Given the description of an element on the screen output the (x, y) to click on. 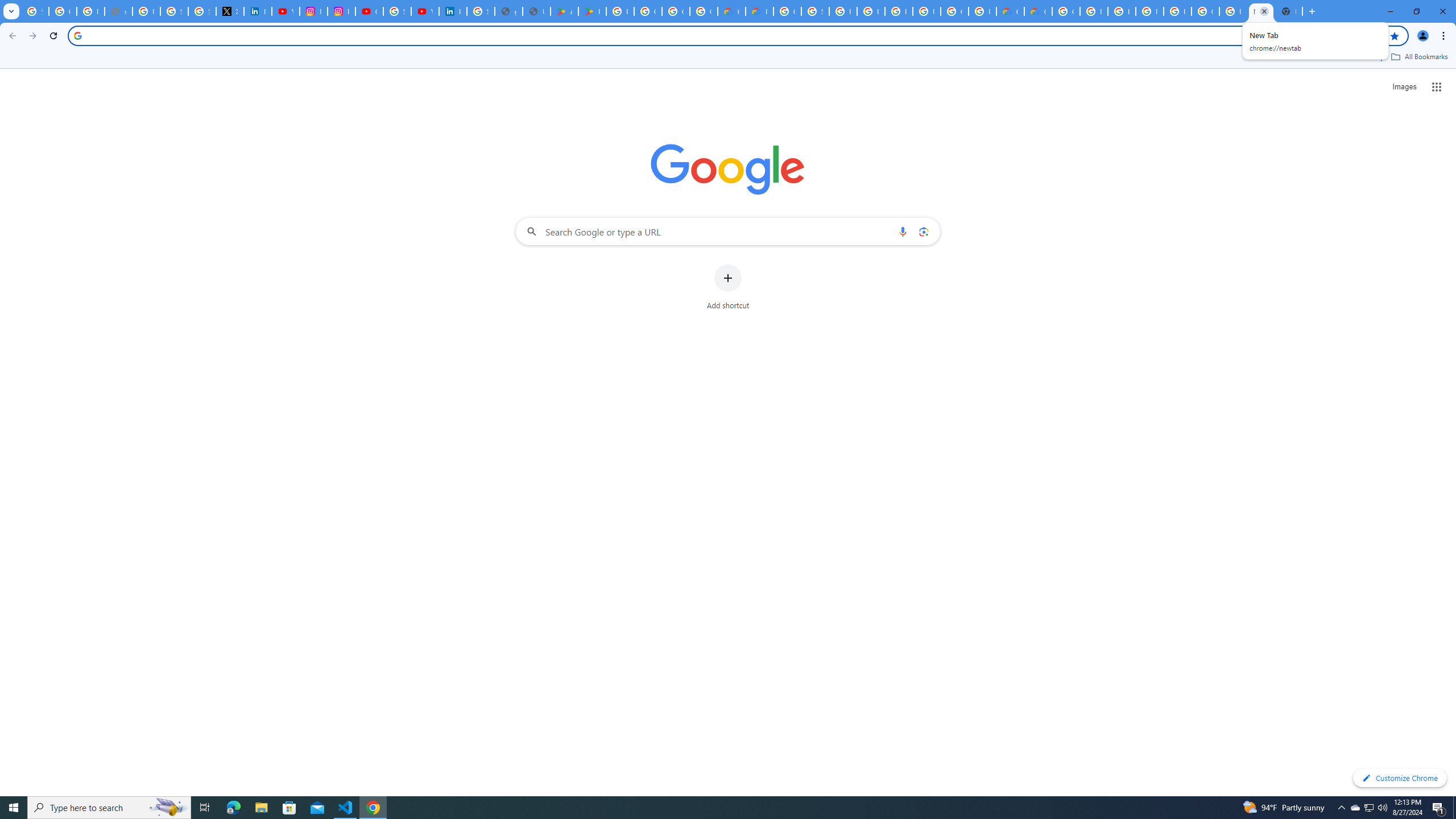
Google Cloud Platform (787, 11)
Browse Chrome as a guest - Computer - Google Chrome Help (1093, 11)
Browse Chrome as a guest - Computer - Google Chrome Help (870, 11)
Sign in - Google Accounts (174, 11)
